Given the description of an element on the screen output the (x, y) to click on. 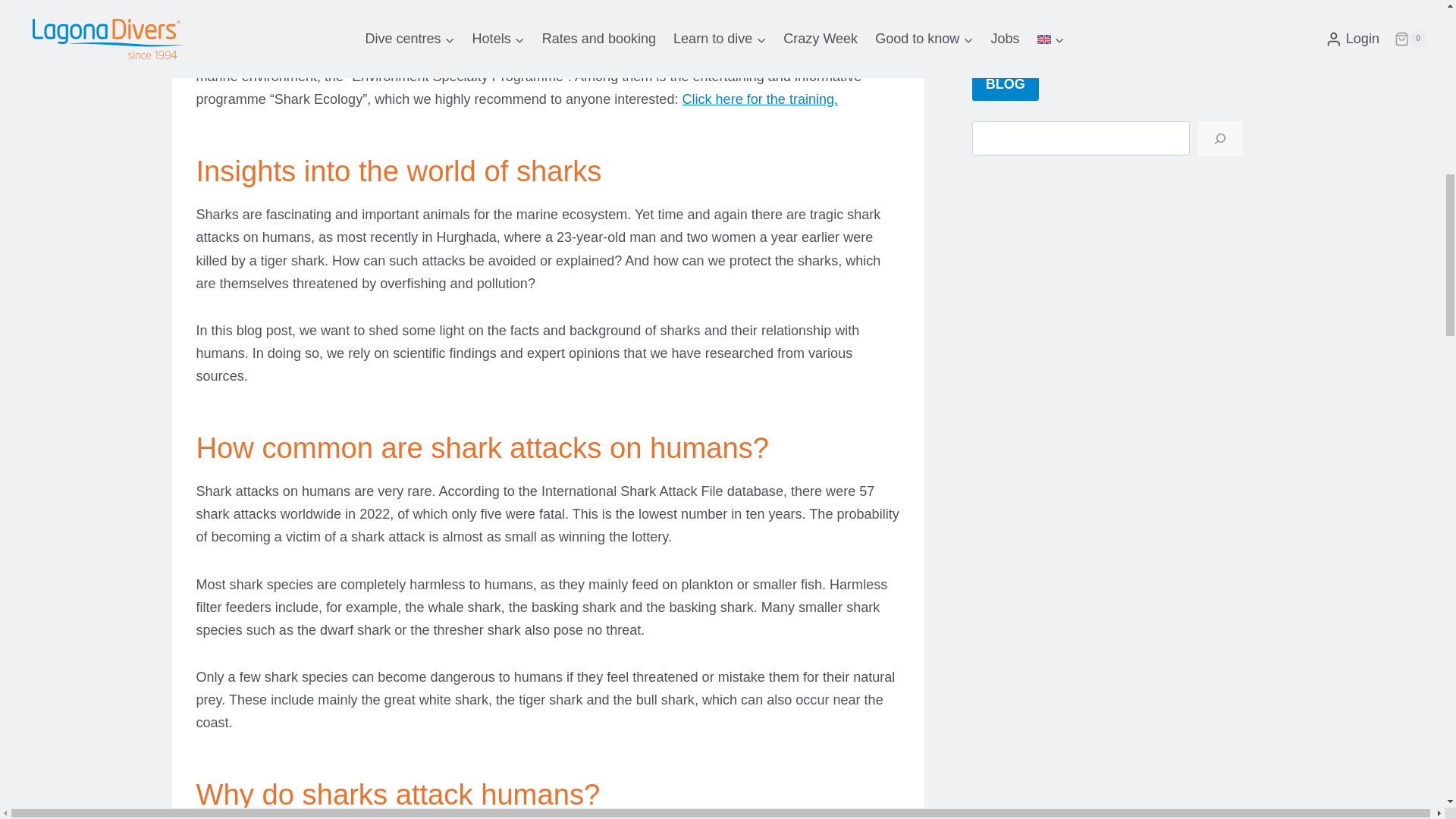
Click here for the training. (759, 99)
